Given the description of an element on the screen output the (x, y) to click on. 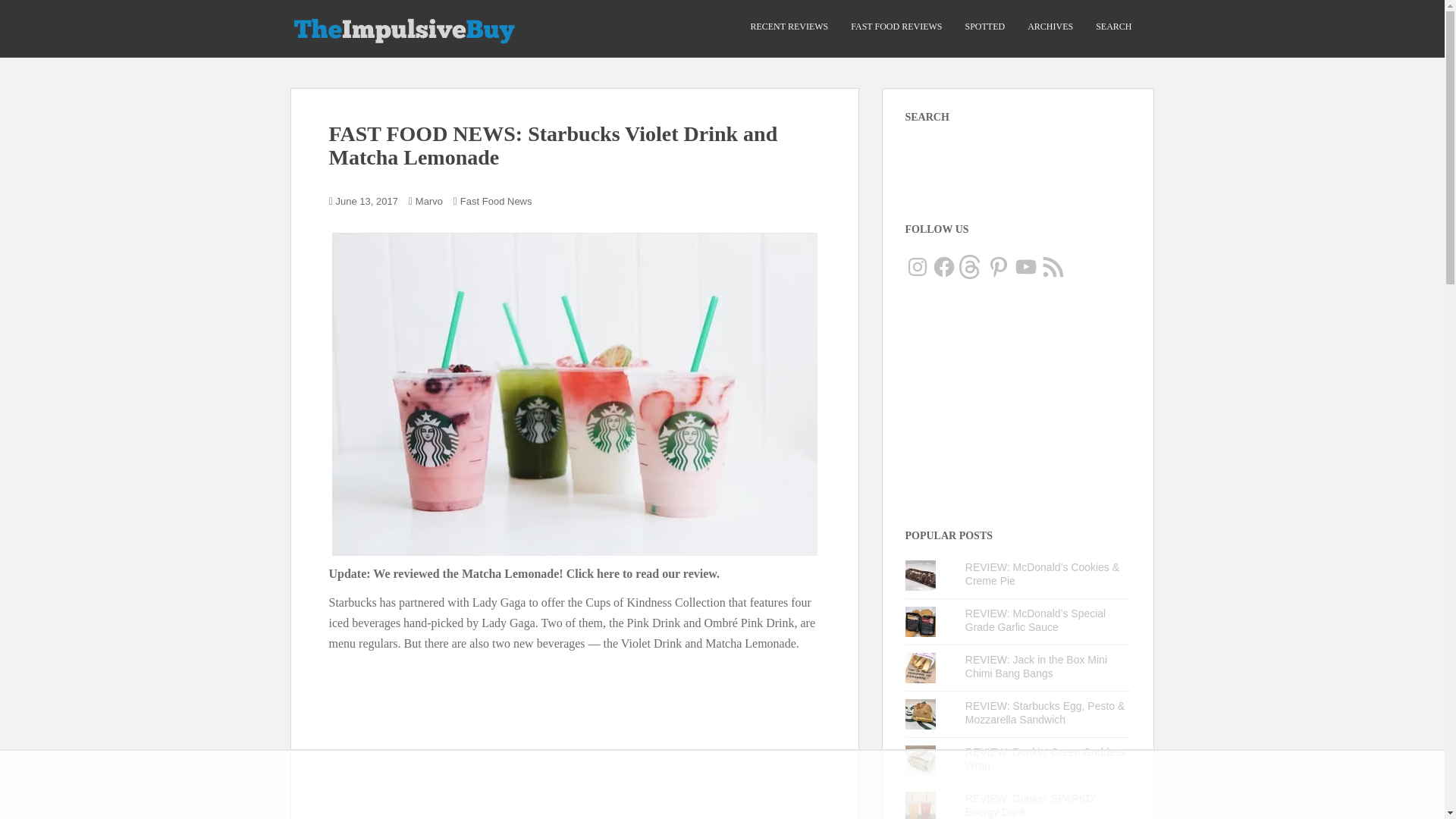
Fast Food News (496, 201)
FAST FOOD REVIEWS (896, 26)
Marvo (428, 201)
RSS Feed (1053, 266)
SPOTTED (983, 26)
Facebook (943, 266)
ARCHIVES (1050, 26)
June 13, 2017 (366, 201)
REVIEW: Jack in the Box Mini Chimi Bang Bangs (1035, 666)
Threads (971, 266)
SEARCH (1113, 26)
Instagram (917, 266)
YouTube (1025, 266)
